Given the description of an element on the screen output the (x, y) to click on. 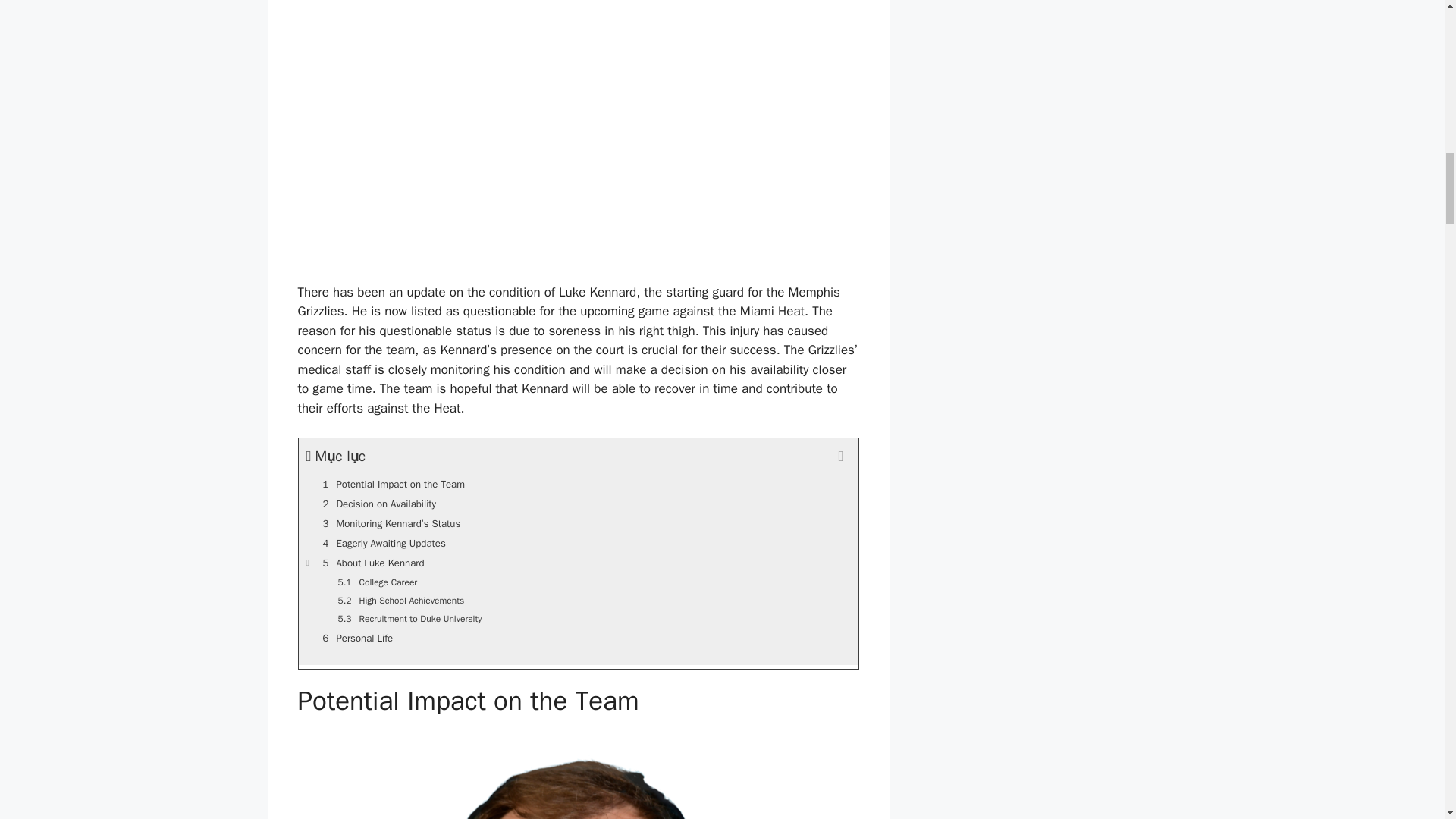
Recruitment to Duke University (578, 618)
College Career (578, 582)
Potential Impact on the Team (578, 484)
Decision on Availability (578, 504)
Personal Life (578, 638)
Eagerly Awaiting Updates (578, 543)
High School Achievements (578, 600)
About Luke Kennard (578, 563)
